Given the description of an element on the screen output the (x, y) to click on. 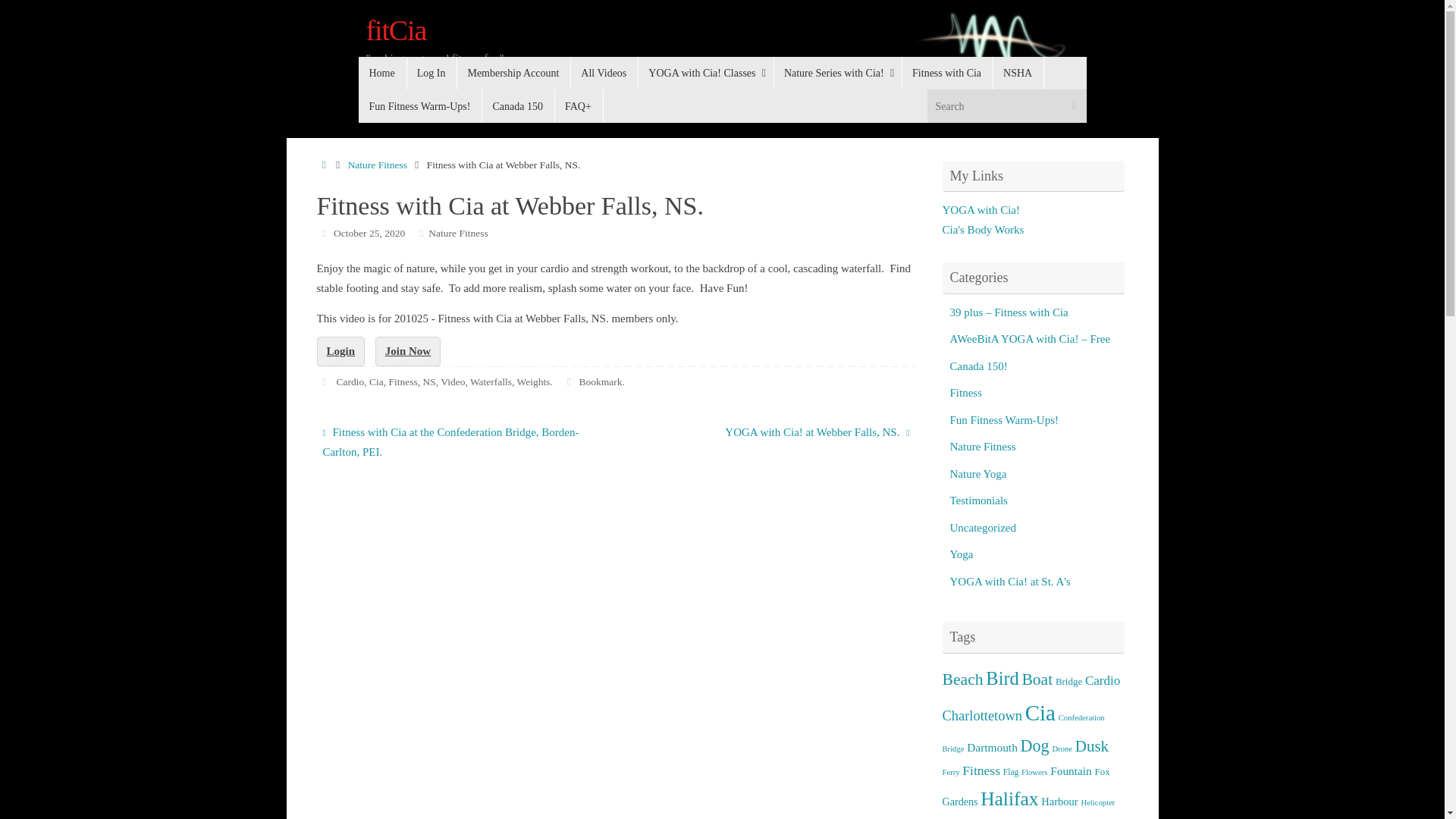
Video (452, 381)
Weights (533, 381)
NSHA (1017, 72)
YOGA with Cia! Classes (705, 72)
Fun Fitness Warm-Ups! (419, 105)
fitCia (395, 30)
Membership Account (513, 72)
Permalink to Fitness with Cia at Webber Falls, NS. (599, 381)
Home (382, 72)
Home (324, 164)
